Given the description of an element on the screen output the (x, y) to click on. 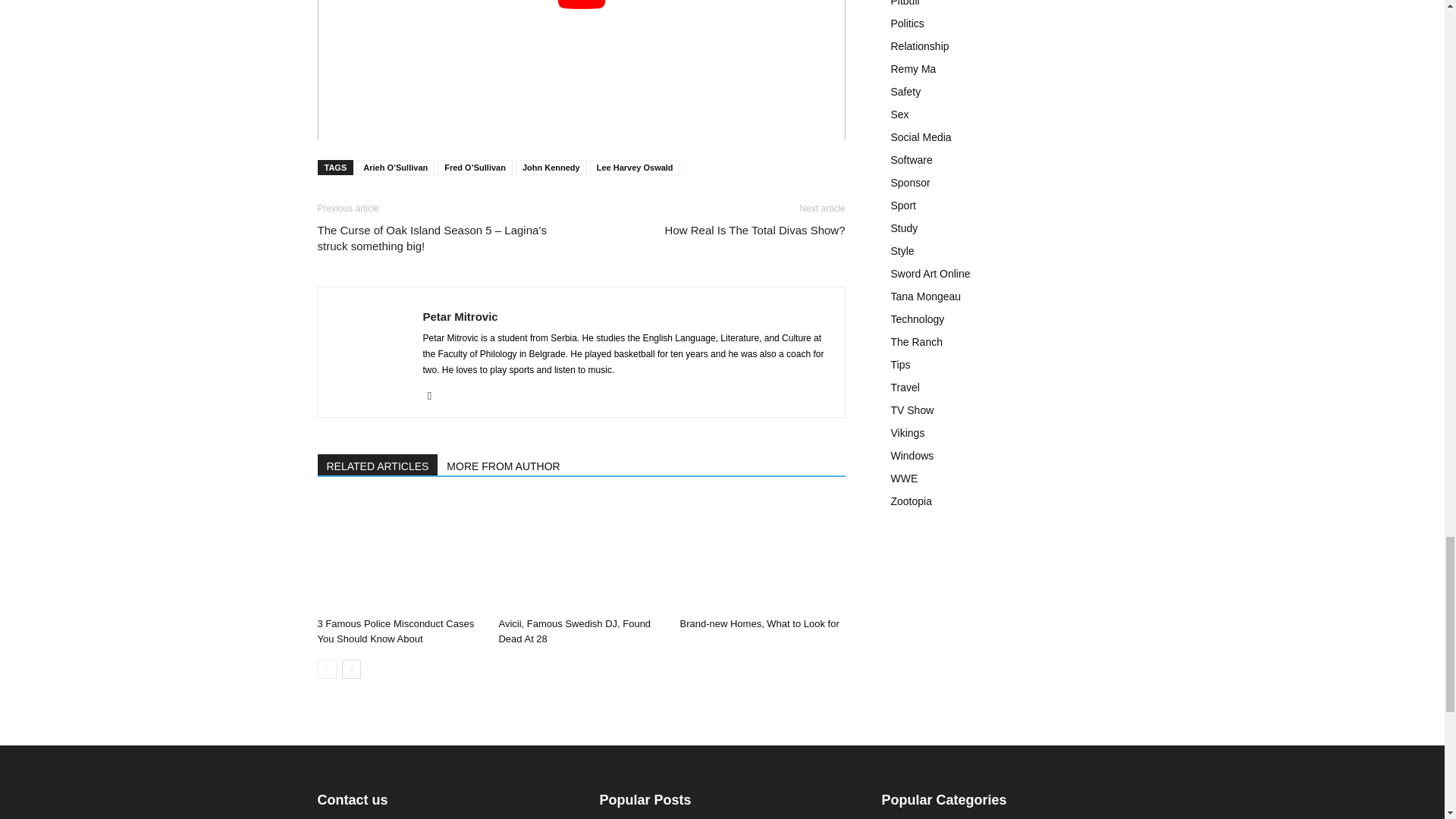
Facebook (435, 395)
Avicii, Famous Swedish DJ, Found Dead At 28 (573, 631)
3 Famous Police Misconduct Cases You Should Know About (399, 553)
3 Famous Police Misconduct Cases You Should Know About (395, 631)
Avicii, Famous Swedish DJ, Found Dead At 28 (580, 553)
